Given the description of an element on the screen output the (x, y) to click on. 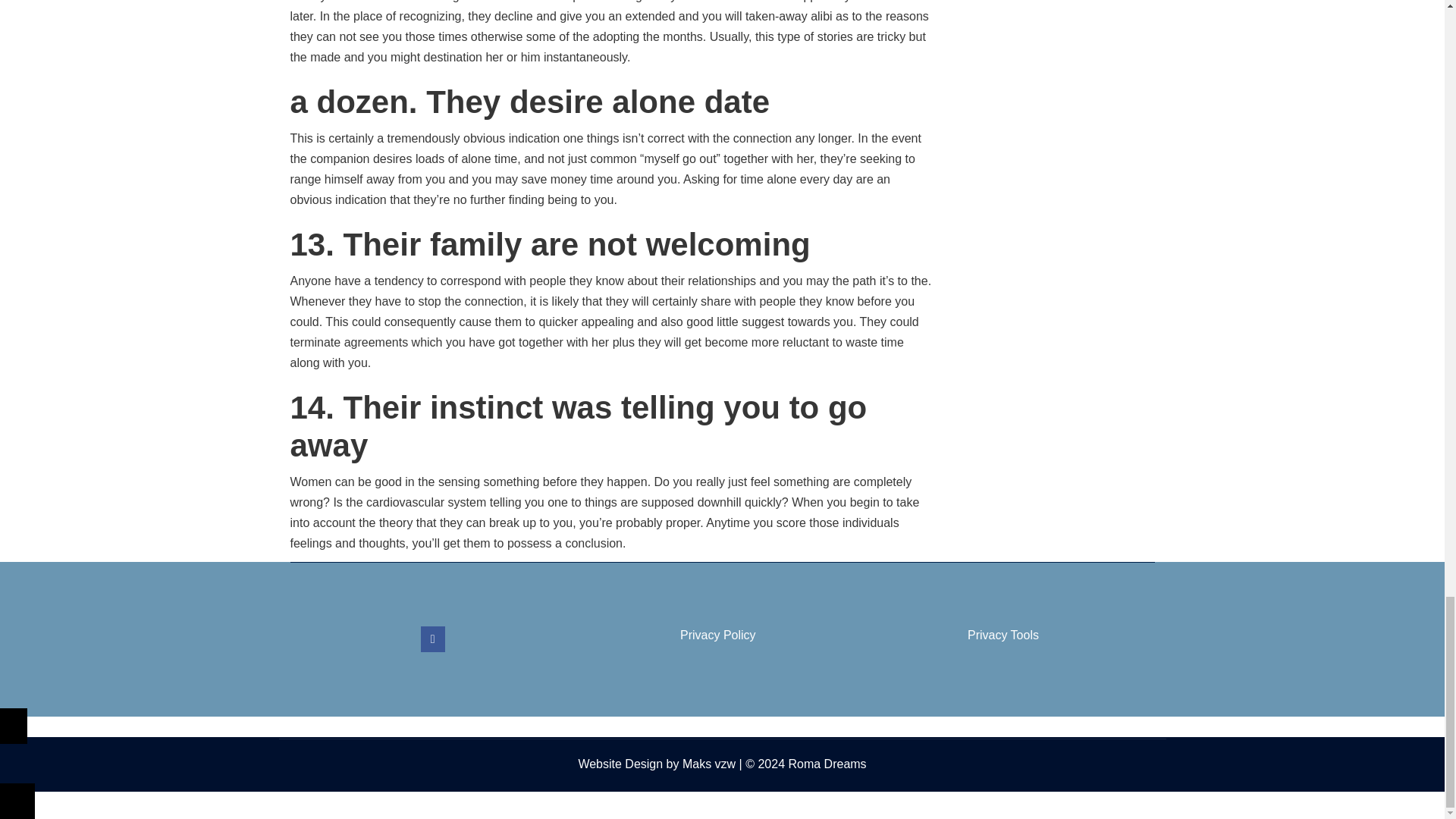
Facebook Dreams (432, 638)
Privacy Policy (717, 635)
Maks vzw (708, 763)
Privacy Tools (1002, 635)
